Given the description of an element on the screen output the (x, y) to click on. 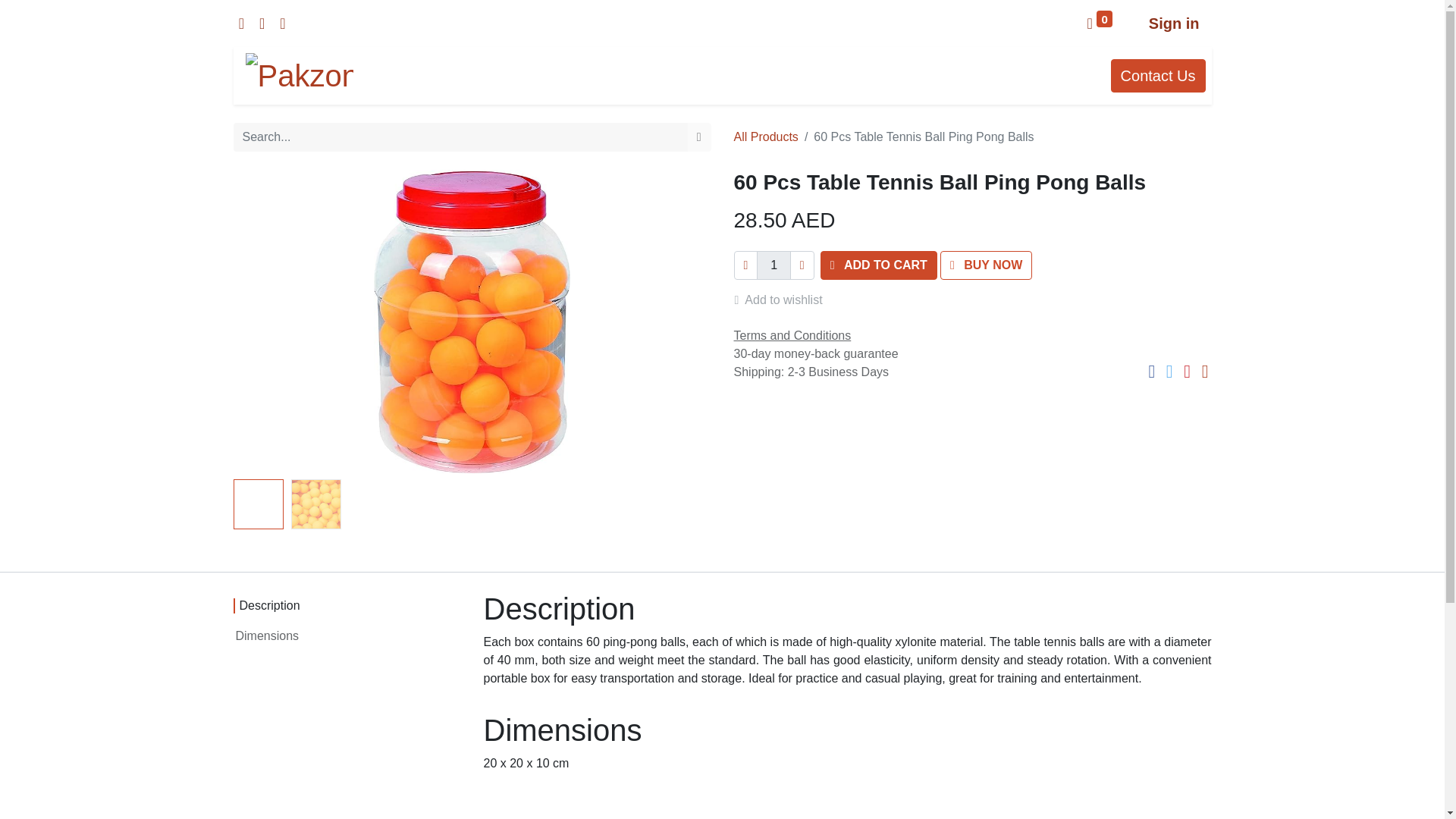
ADD TO CART (879, 265)
Sign in (1174, 22)
Dimensions (346, 635)
0 (1099, 22)
Contact Us (1157, 75)
Terms and Conditions (792, 335)
1 (773, 265)
Add to wishlist (784, 299)
Add to wishlist (784, 299)
Pakzon Shop (299, 75)
BUY NOW (986, 265)
Description (346, 605)
All Products (765, 136)
